Given the description of an element on the screen output the (x, y) to click on. 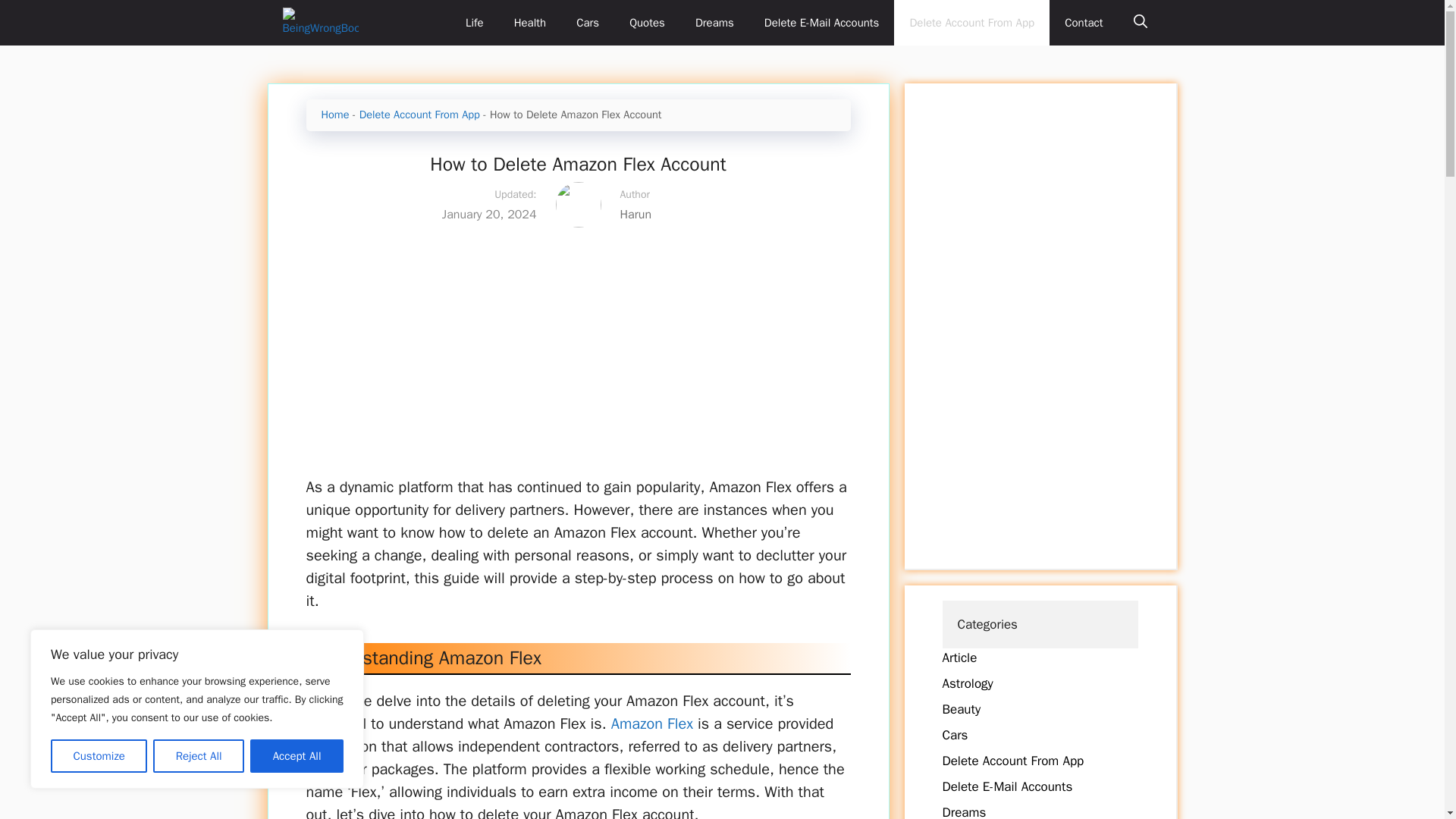
Cars (955, 734)
Delete Account From App (419, 114)
Contact (1083, 22)
Customize (98, 756)
Delete E-Mail Accounts (822, 22)
Dreams (963, 811)
Amazon Flex (652, 723)
Harun (725, 213)
Accept All (296, 756)
Home (335, 114)
BeingWrongBook.com (320, 22)
Delete E-Mail Accounts (1006, 786)
Delete Account From App (971, 22)
Cars (587, 22)
Article (959, 657)
